Given the description of an element on the screen output the (x, y) to click on. 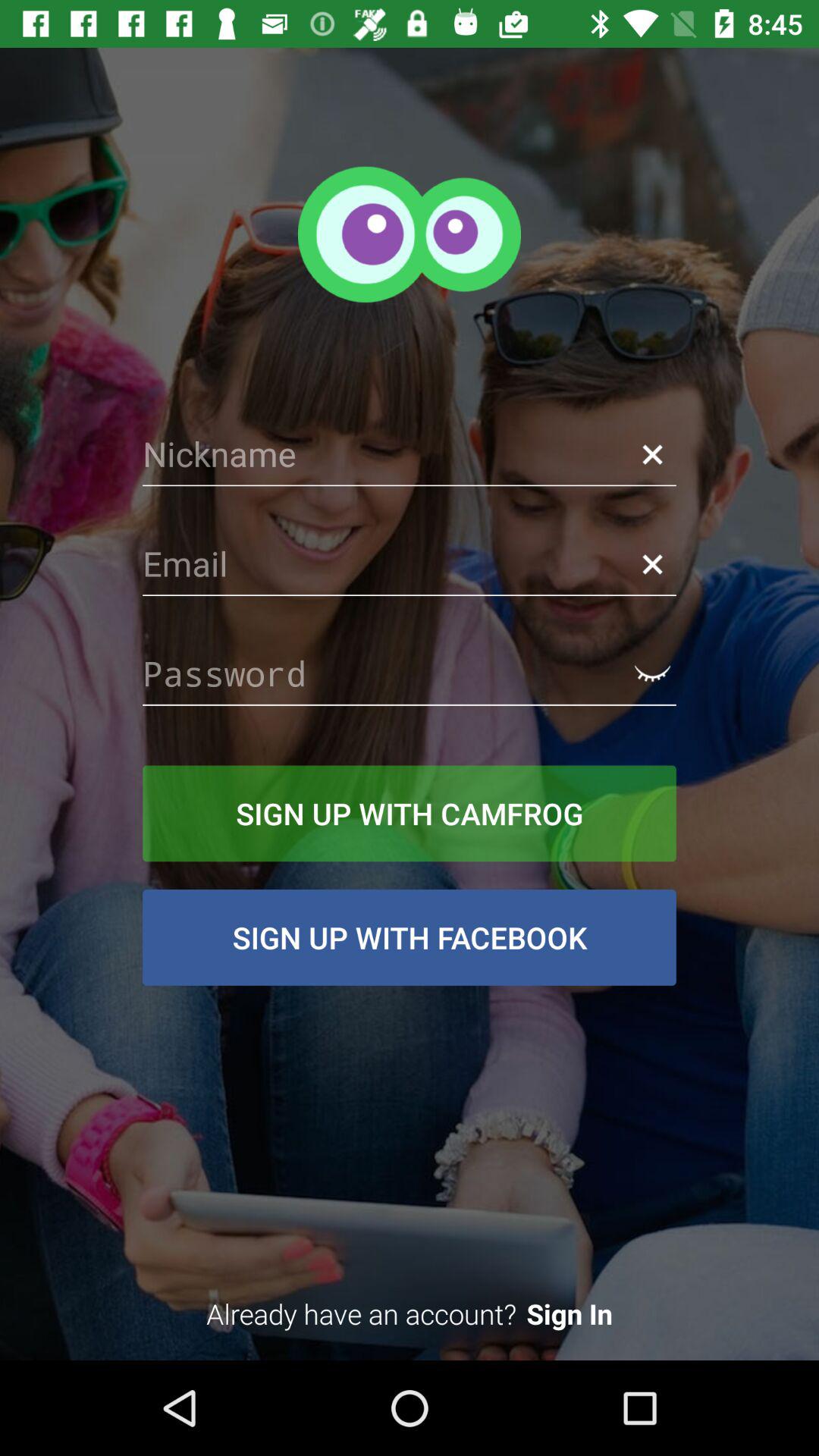
name to prefer (409, 454)
